Given the description of an element on the screen output the (x, y) to click on. 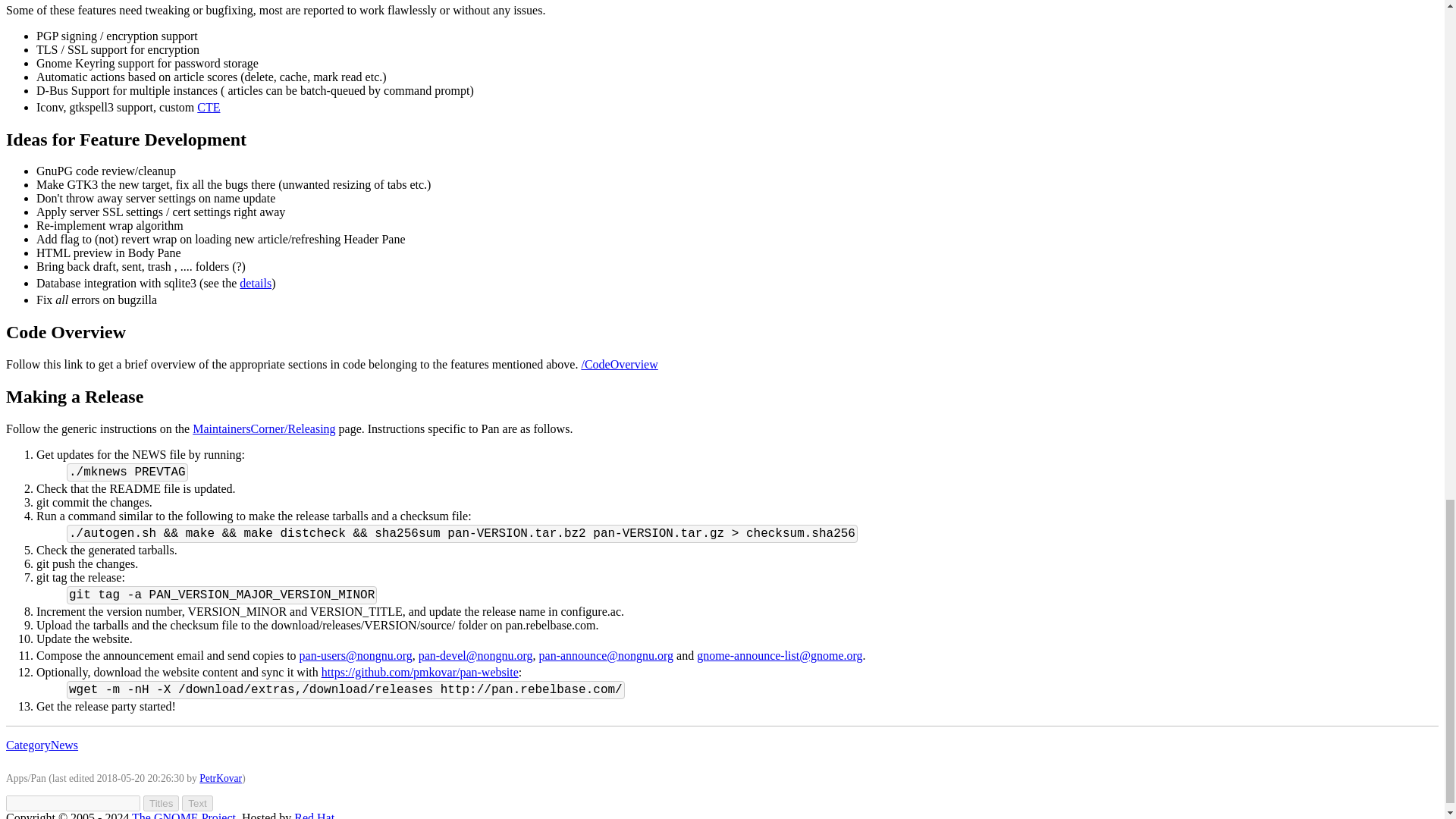
Text (197, 803)
WikiPedia (207, 106)
details (255, 282)
CTE (207, 106)
CategoryNews (41, 744)
Titles (160, 803)
PetrKovar (220, 778)
PetrKovar (220, 778)
